Given the description of an element on the screen output the (x, y) to click on. 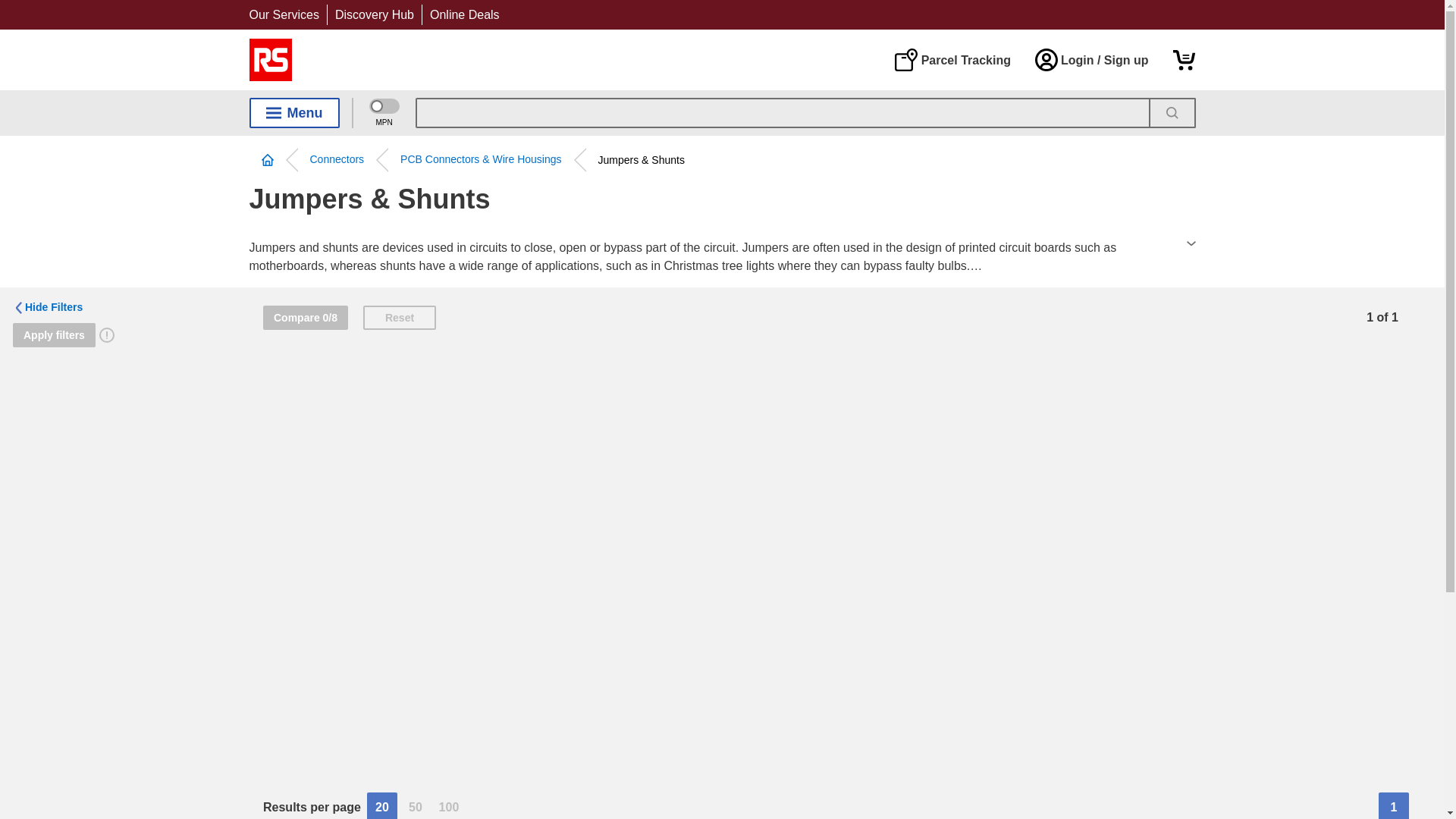
Parcel Tracking (951, 59)
Menu (293, 112)
Discovery Hub (373, 14)
Online Deals (464, 14)
Our Services (283, 14)
